Given the description of an element on the screen output the (x, y) to click on. 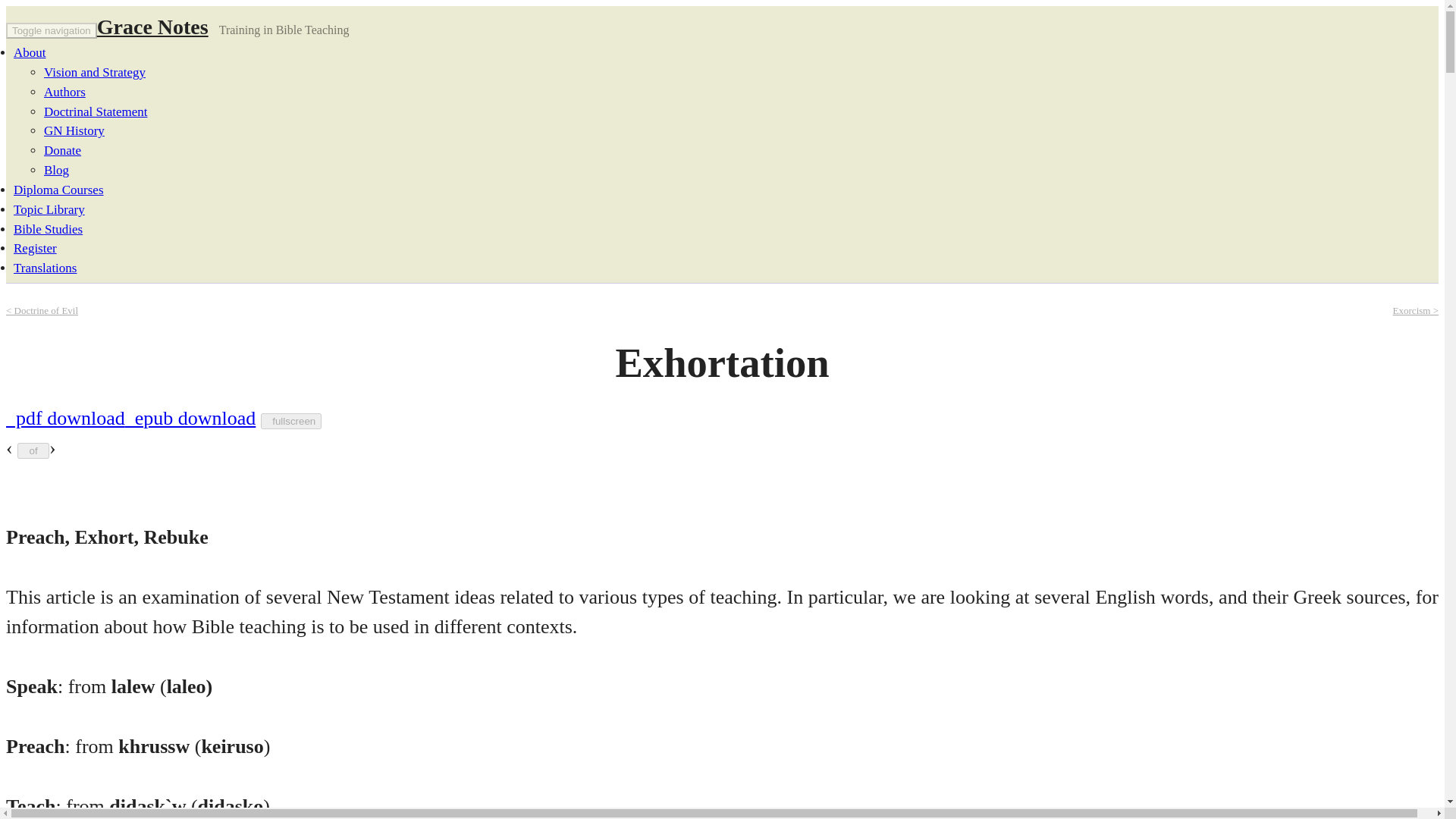
Blog (55, 169)
Grace Notes (152, 26)
Vision and Strategy (94, 72)
epub download of Exhortation (190, 418)
Diploma Courses (58, 189)
pdf download of Exhortation (65, 418)
Topic Library (48, 209)
Toggle navigation (51, 30)
GN History (73, 130)
Register (34, 247)
